Given the description of an element on the screen output the (x, y) to click on. 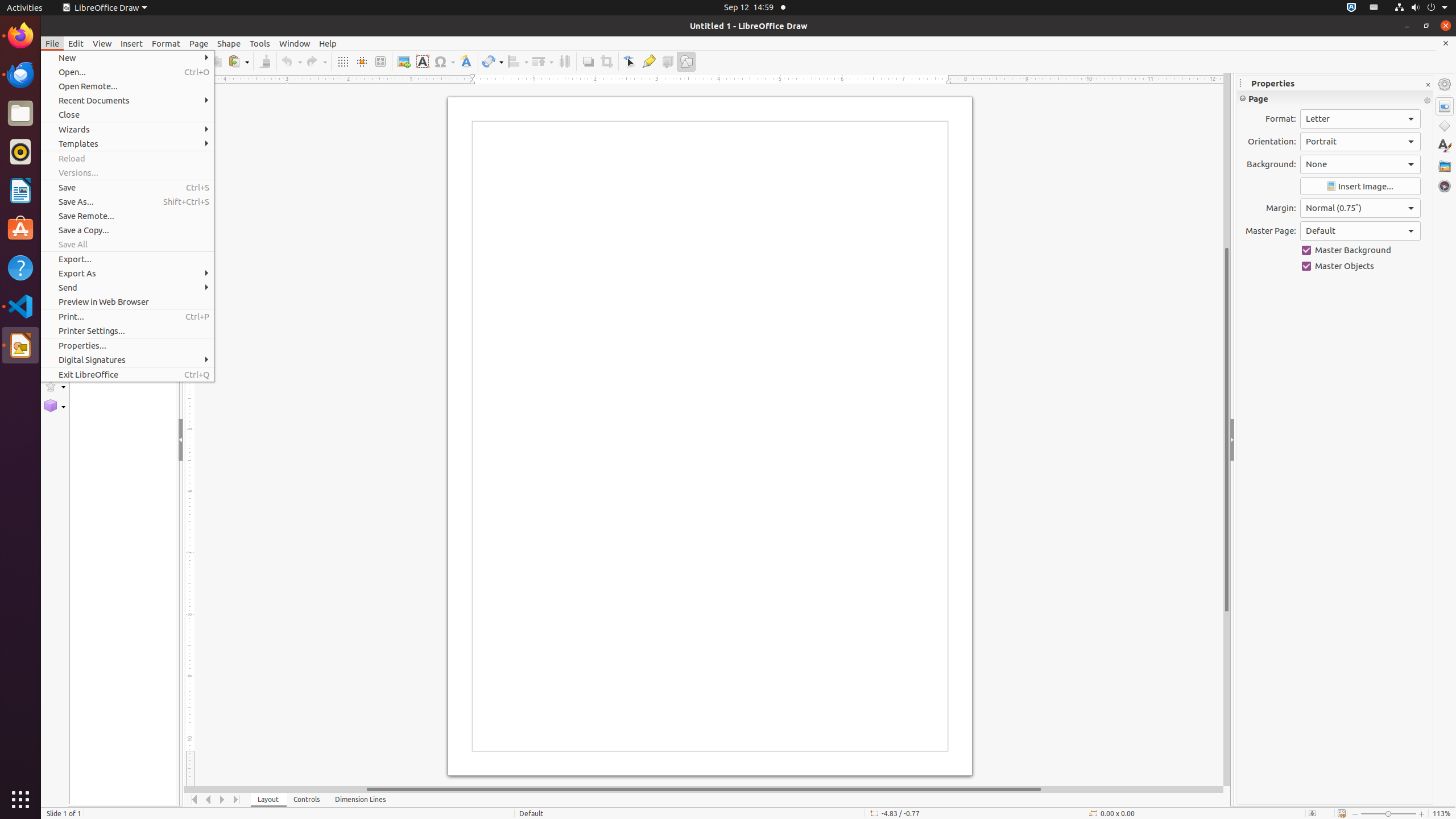
Master Background Element type: check-box (1360, 249)
Show Applications Element type: toggle-button (20, 799)
File Element type: menu (51, 43)
Page Element type: menu (198, 43)
Crop Element type: push-button (606, 61)
